Given the description of an element on the screen output the (x, y) to click on. 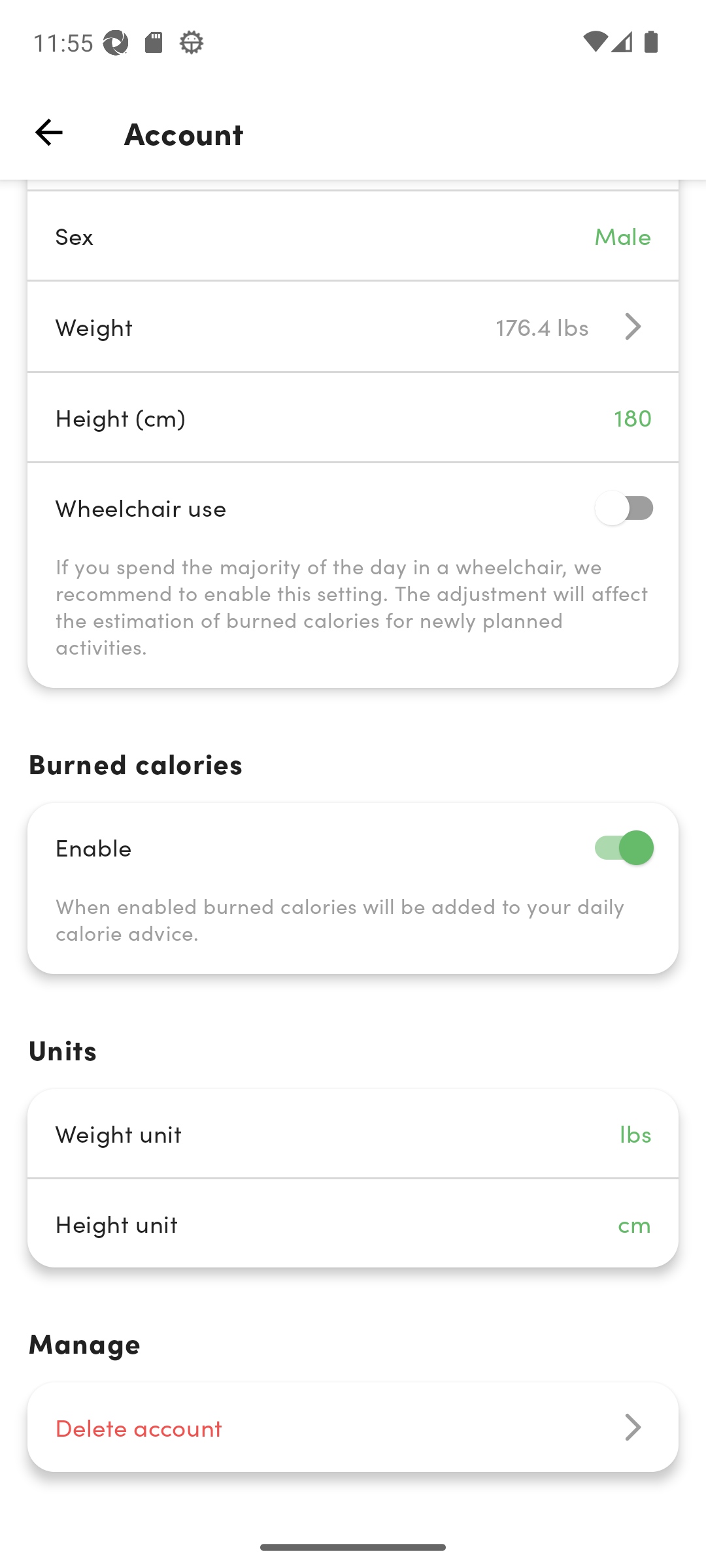
top_left_action (48, 132)
Sex Male (352, 235)
Weight 176.4 lbs (352, 326)
Height (cm) 180 (352, 416)
Wheelchair use (352, 506)
Enable (352, 846)
Weight unit lbs (352, 1133)
Height unit cm (352, 1222)
Delete account (352, 1427)
